Given the description of an element on the screen output the (x, y) to click on. 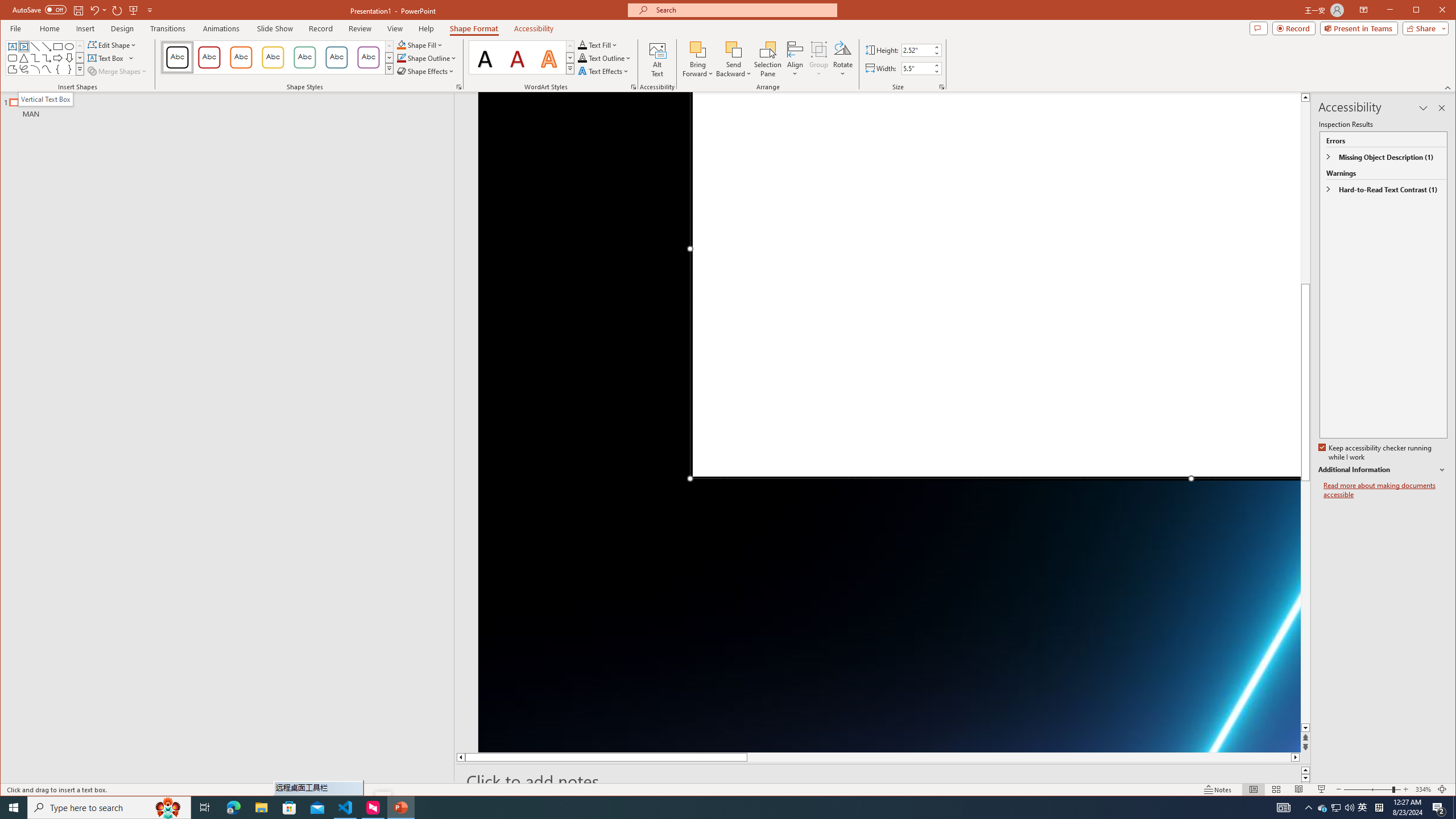
Zoom 334% (1422, 789)
Bring Forward (697, 48)
AutomationID: ShapeStylesGallery (277, 57)
Selection Pane... (767, 59)
